Given the description of an element on the screen output the (x, y) to click on. 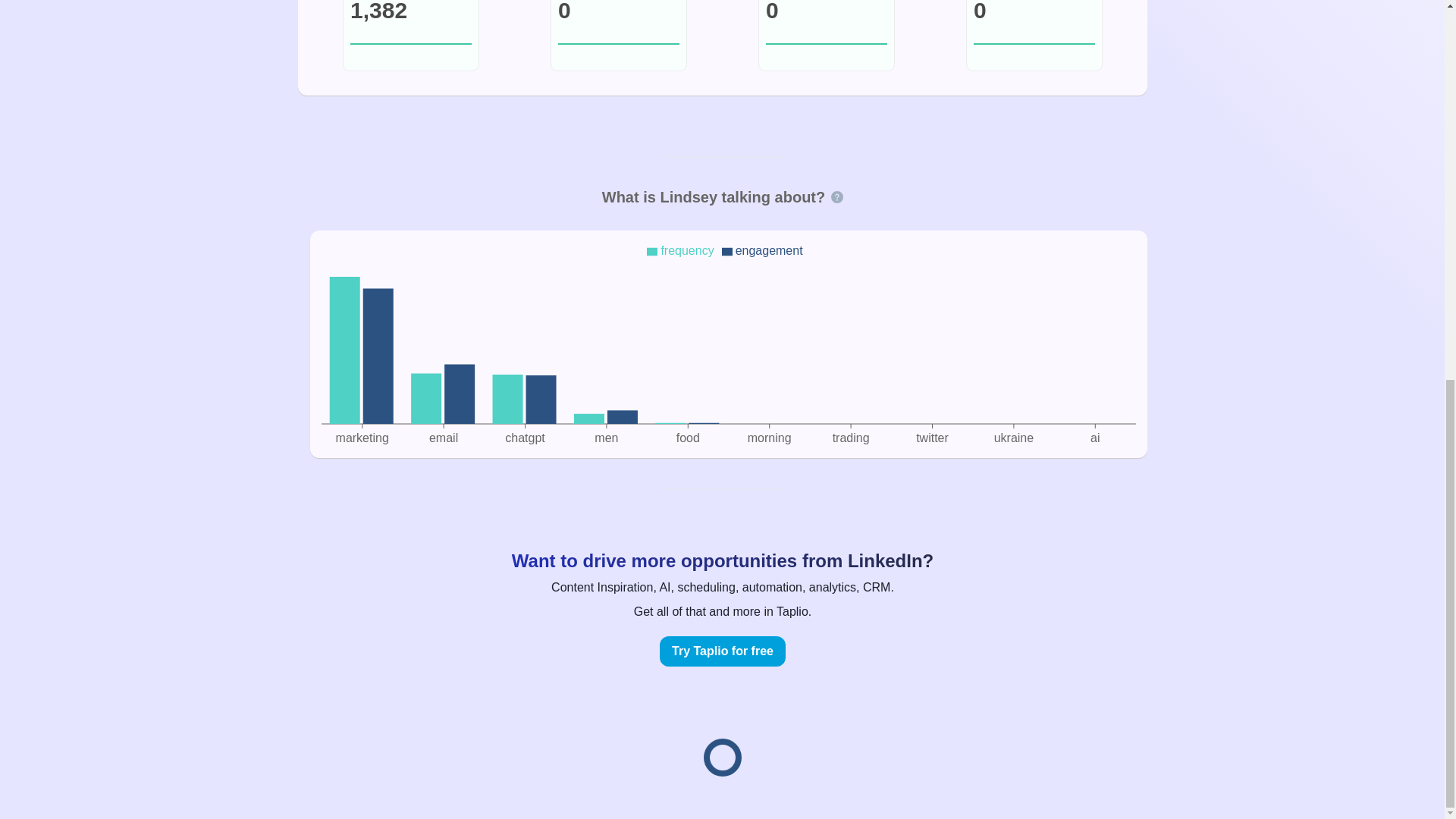
Try Taplio for free (722, 650)
ukraine (1012, 437)
trading (850, 437)
men (606, 437)
email (442, 437)
morning (768, 437)
marketing (361, 437)
chatgpt (524, 437)
twitter (932, 437)
food (686, 437)
